Given the description of an element on the screen output the (x, y) to click on. 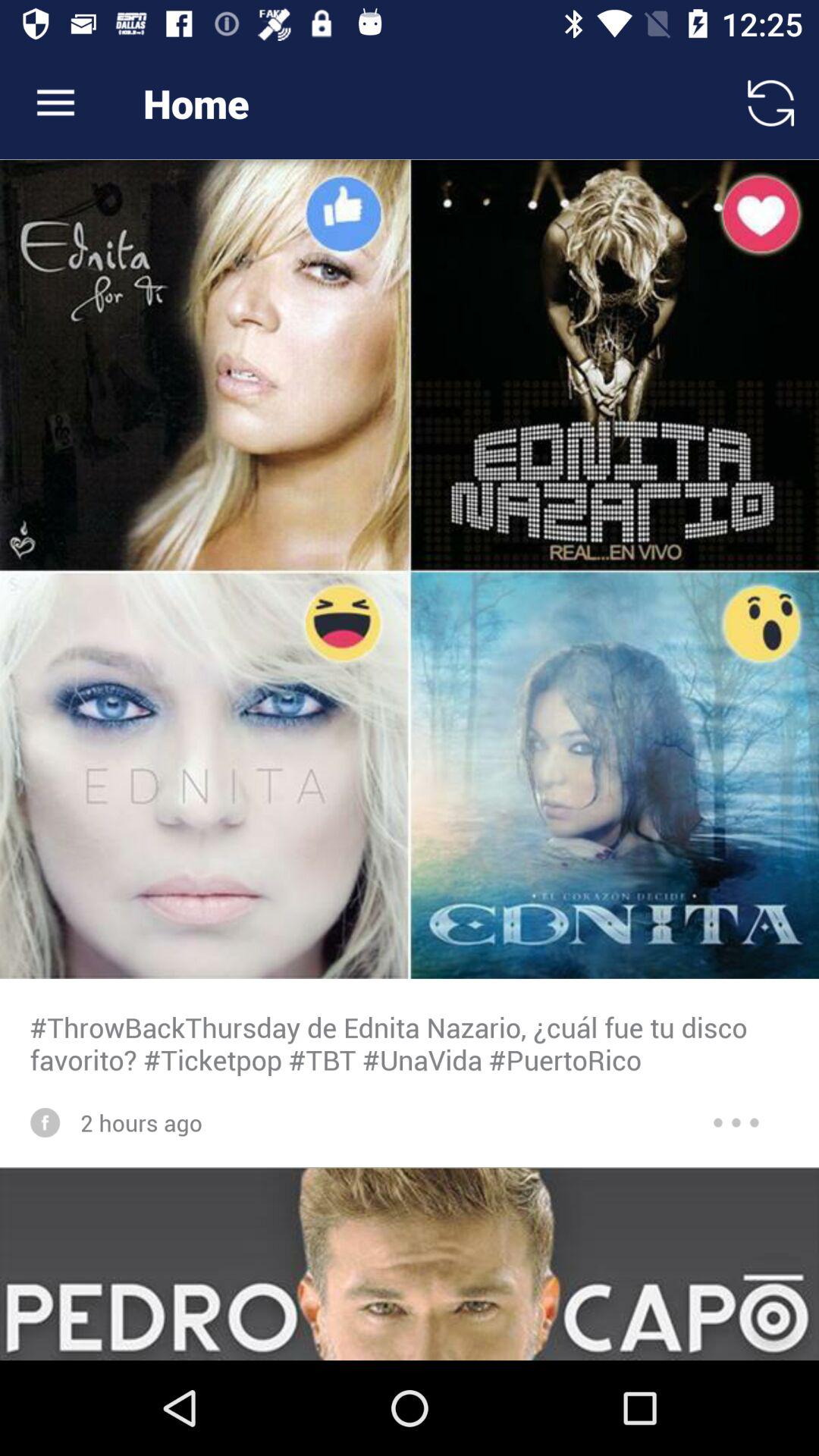
flip until the 2 hours ago item (141, 1122)
